Given the description of an element on the screen output the (x, y) to click on. 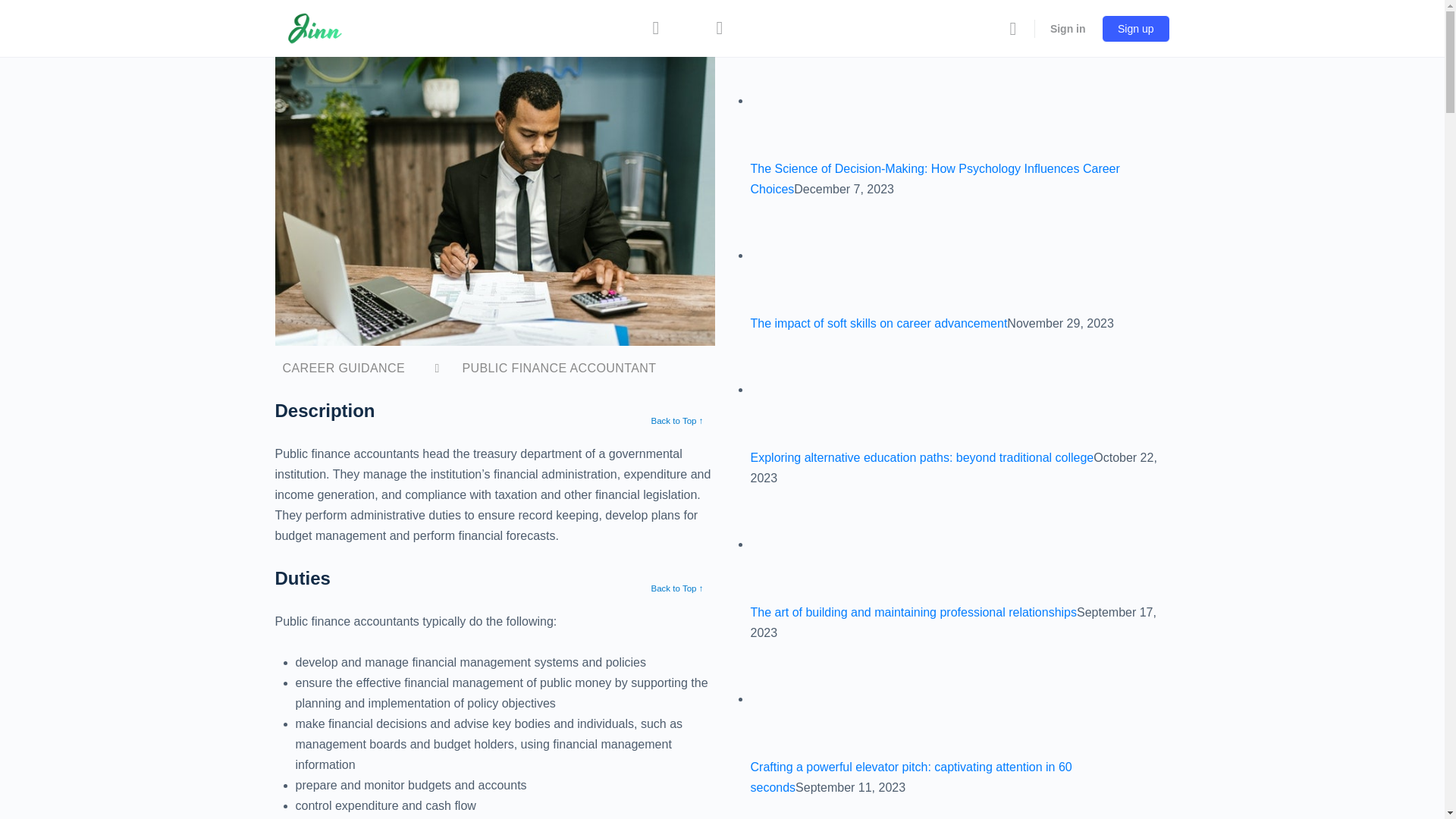
Sign in (1067, 27)
CAREER GUIDANCE (343, 367)
PUBLIC FINANCE ACCOUNTANT (558, 367)
Sign up (1135, 28)
